Given the description of an element on the screen output the (x, y) to click on. 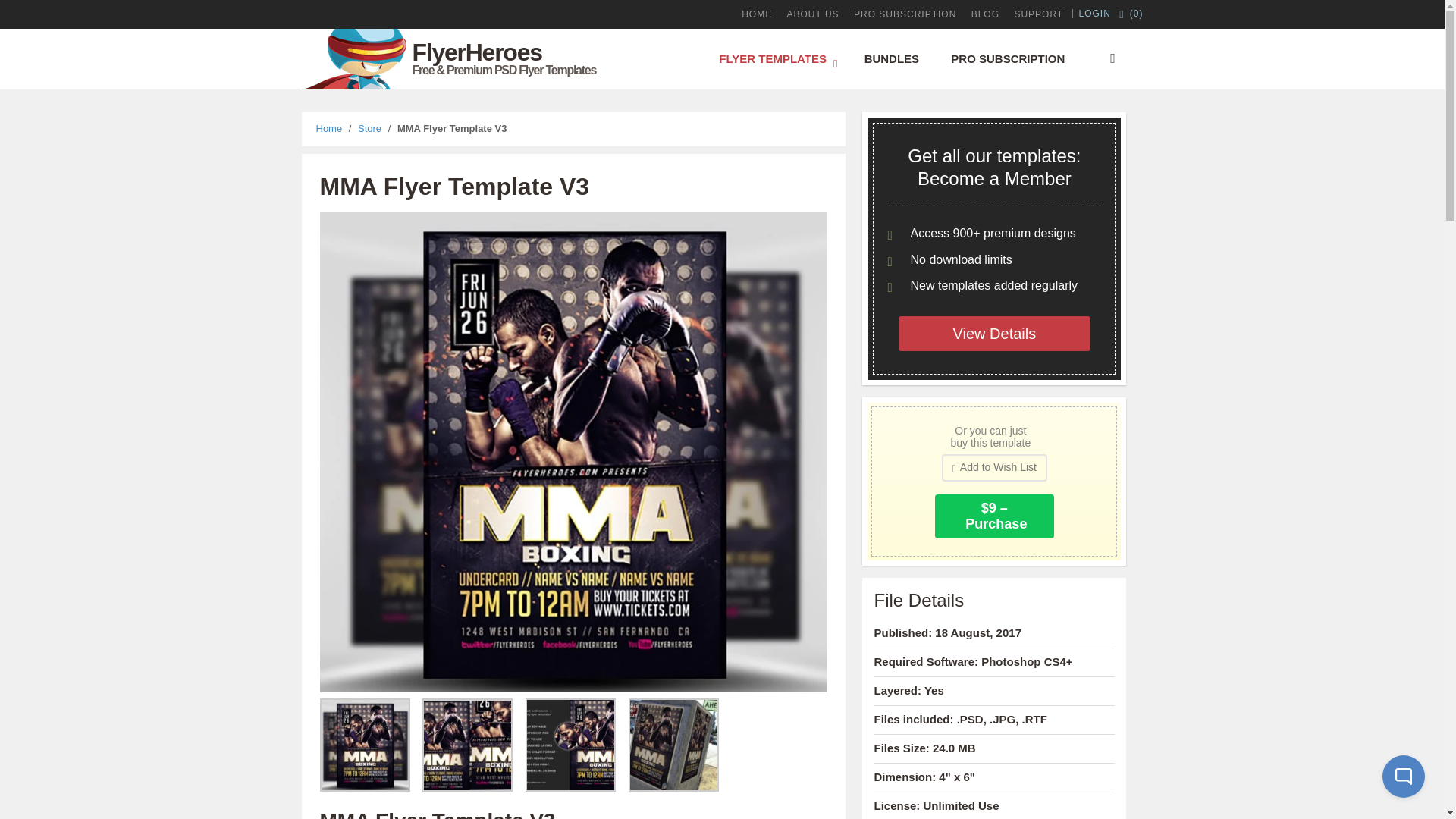
SUPPORT (1037, 13)
HOME (756, 13)
ABOUT US (812, 13)
BLOG (985, 13)
FLYER TEMPLATES (775, 58)
PRO SUBSCRIPTION (904, 13)
LOGIN (1094, 13)
